Given the description of an element on the screen output the (x, y) to click on. 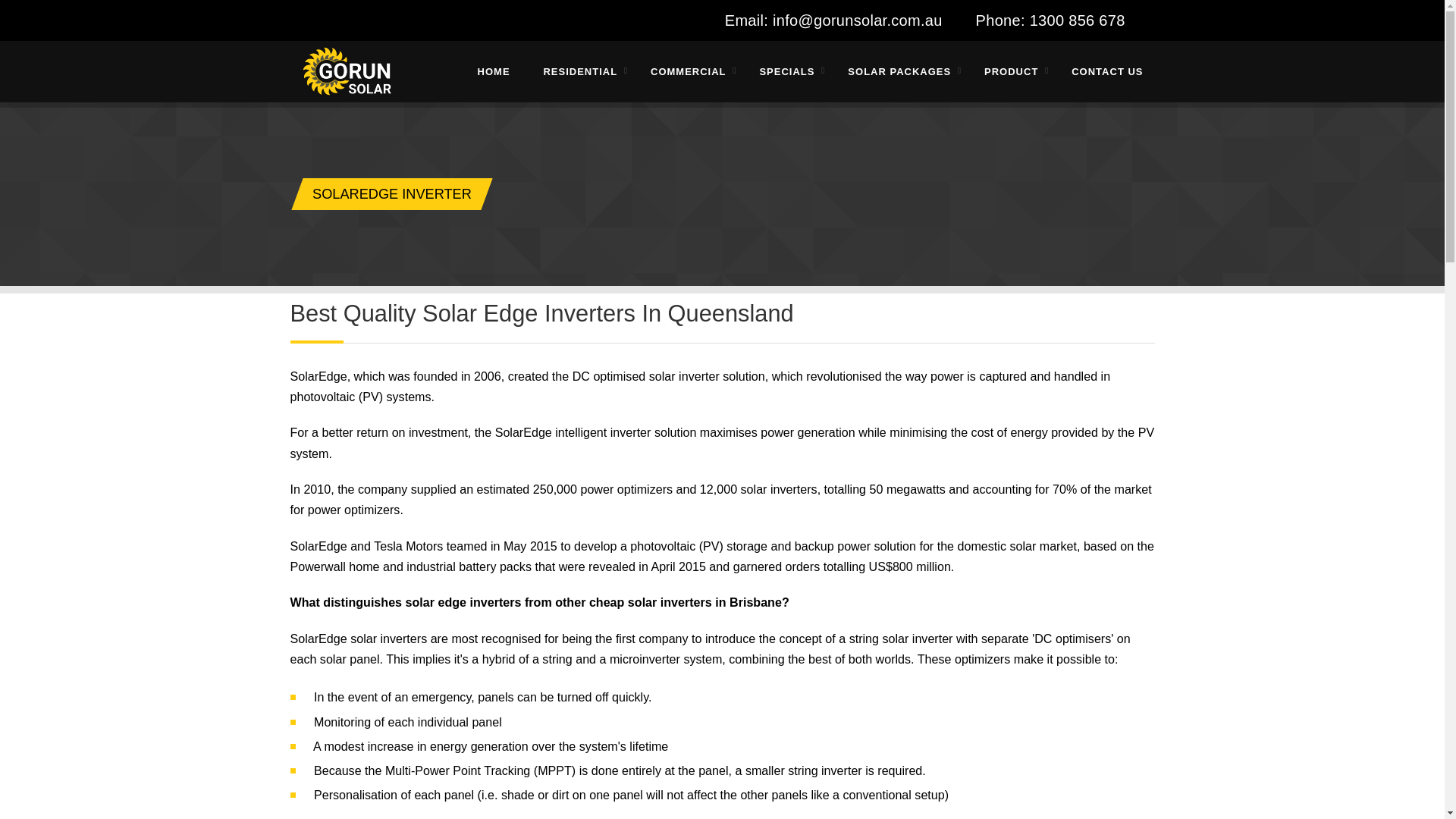
PRODUCT (1010, 71)
CONTACT US (1099, 71)
COMMERCIAL (687, 71)
RESIDENTIAL (579, 71)
SPECIALS (786, 71)
SOLAREDGE INVERTER (385, 193)
SOLAR PACKAGES (899, 71)
1300 856 678 (1077, 20)
HOME (494, 71)
